Given the description of an element on the screen output the (x, y) to click on. 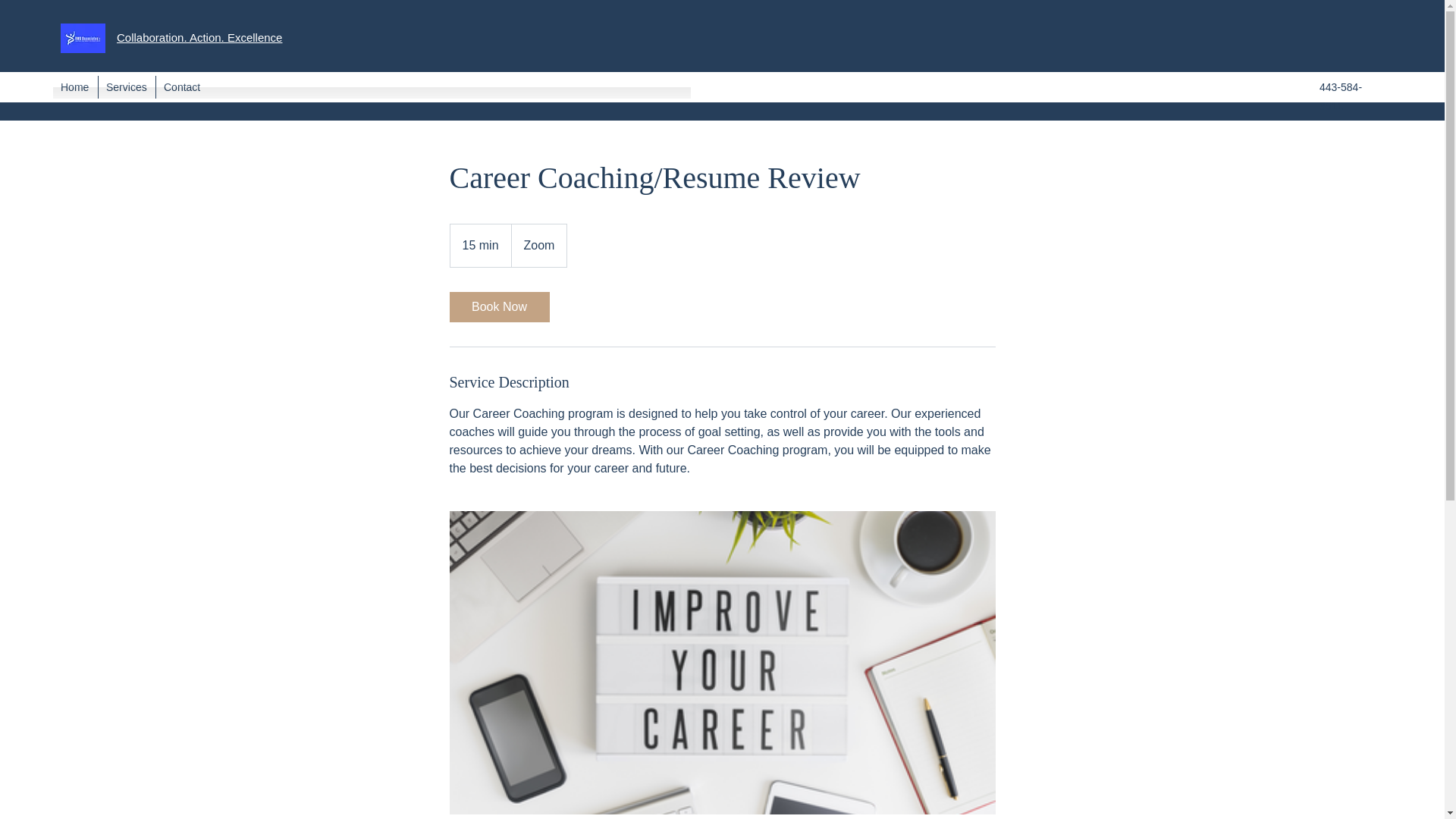
Services (127, 87)
Book Now (498, 306)
Contact (183, 87)
Home (74, 87)
